Given the description of an element on the screen output the (x, y) to click on. 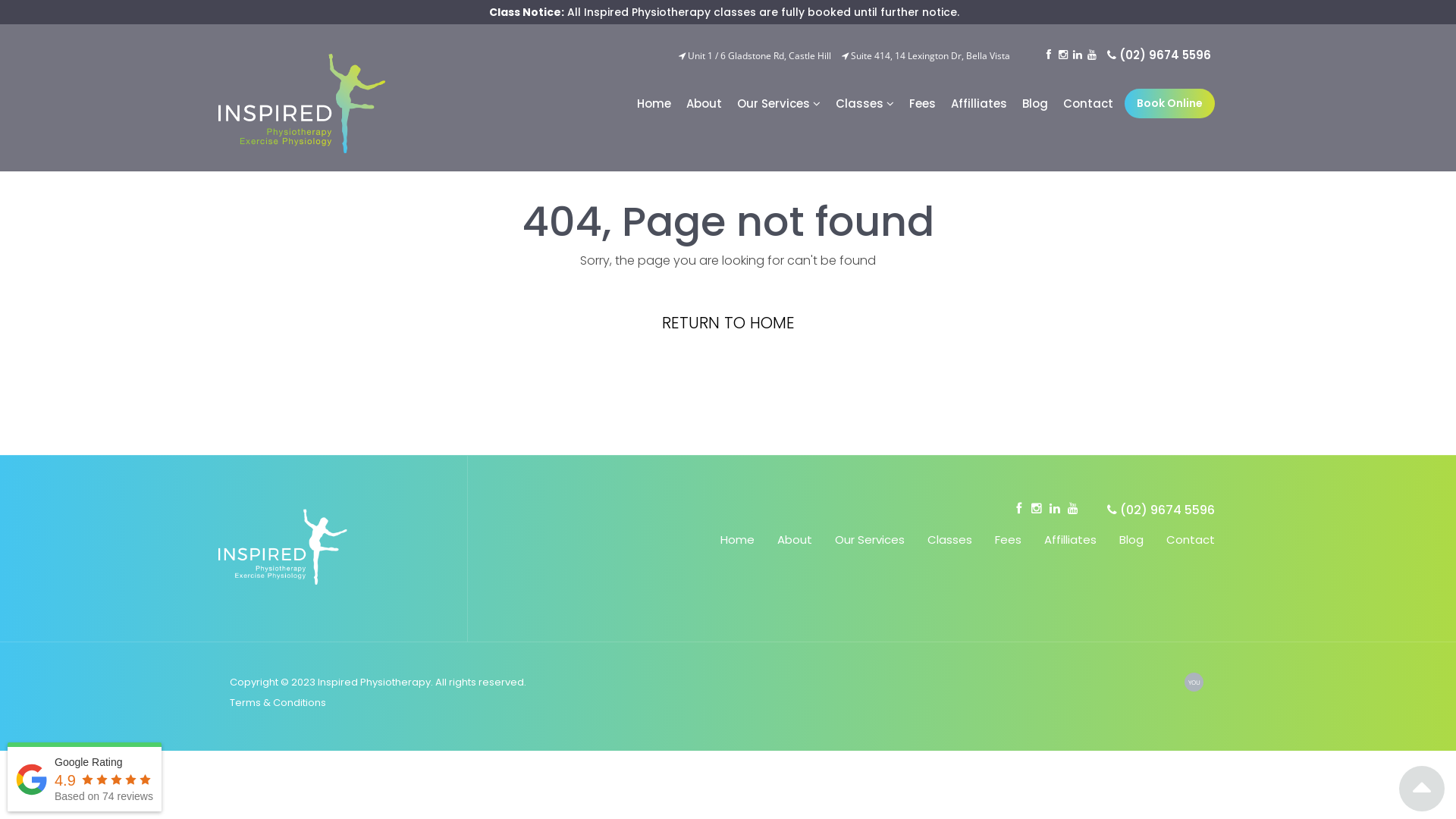
Book Online Element type: text (1169, 103)
Terms & Conditions Element type: text (277, 701)
Contact Element type: text (1190, 540)
Classes Element type: text (949, 540)
Fees Element type: text (918, 103)
Blog Element type: text (1030, 103)
Home Element type: text (737, 540)
Home Element type: text (649, 103)
Affilliates Element type: text (974, 103)
Inspired Physiotherapy Element type: hover (301, 103)
RETURN TO HOME Element type: text (727, 322)
Unit 1 / 6 Gladstone Rd, Castle Hill Element type: text (754, 55)
About Element type: text (699, 103)
Contact Element type: text (1084, 103)
Fees Element type: text (1007, 540)
Our Services Element type: text (869, 540)
Our Services Element type: text (774, 103)
YOU Element type: text (1193, 681)
Affilliates Element type: text (1070, 540)
Blog Element type: text (1131, 540)
Classes Element type: text (860, 103)
Suite 414, 14 Lexington Dr, Bella Vista Element type: text (925, 55)
About Element type: text (794, 540)
